Given the description of an element on the screen output the (x, y) to click on. 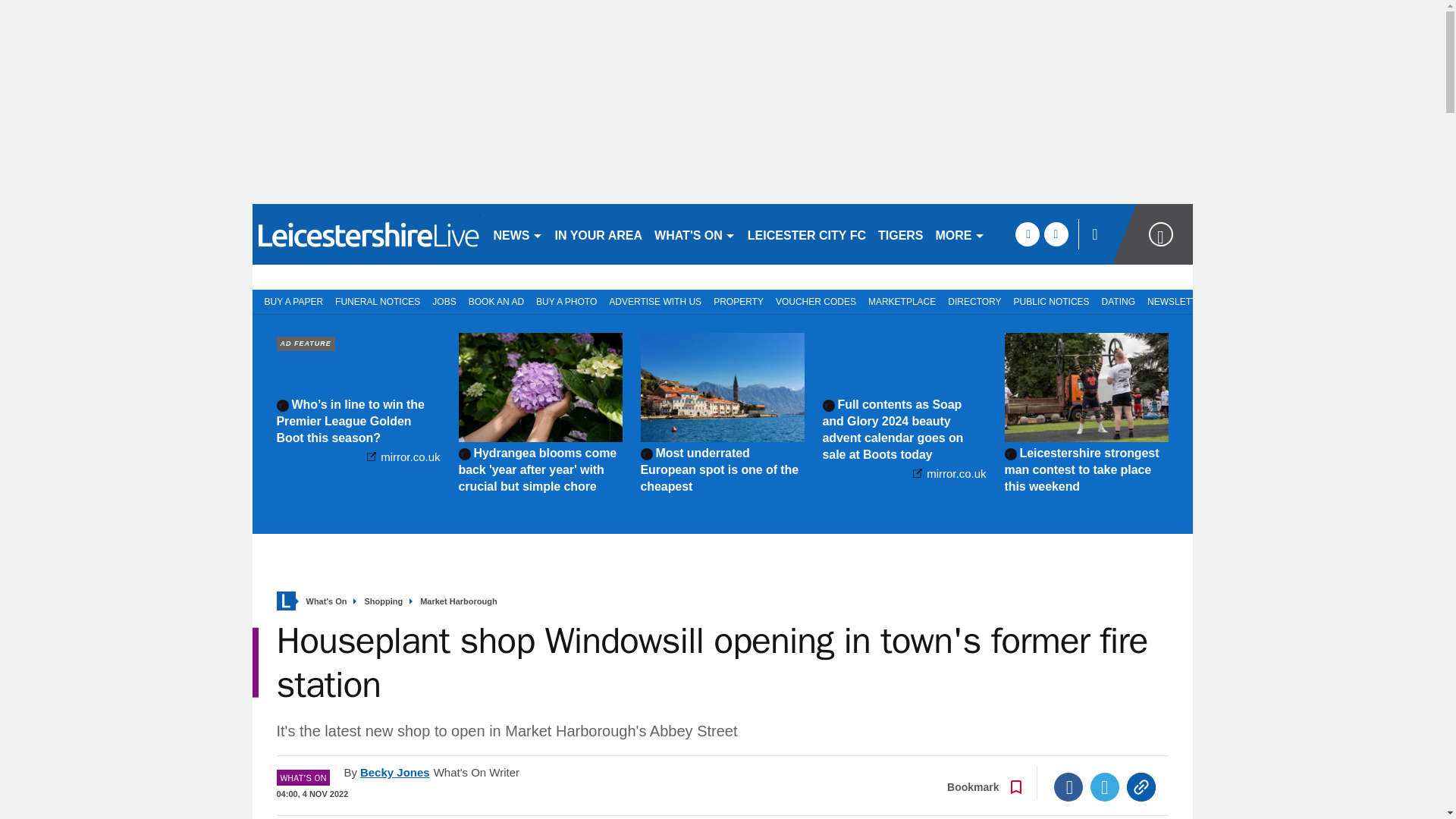
WHAT'S ON (694, 233)
facebook (1026, 233)
NEWS (517, 233)
leicestermercury (365, 233)
Twitter (1104, 787)
twitter (1055, 233)
LEICESTER CITY FC (806, 233)
MORE (960, 233)
TIGERS (901, 233)
Facebook (1068, 787)
